Given the description of an element on the screen output the (x, y) to click on. 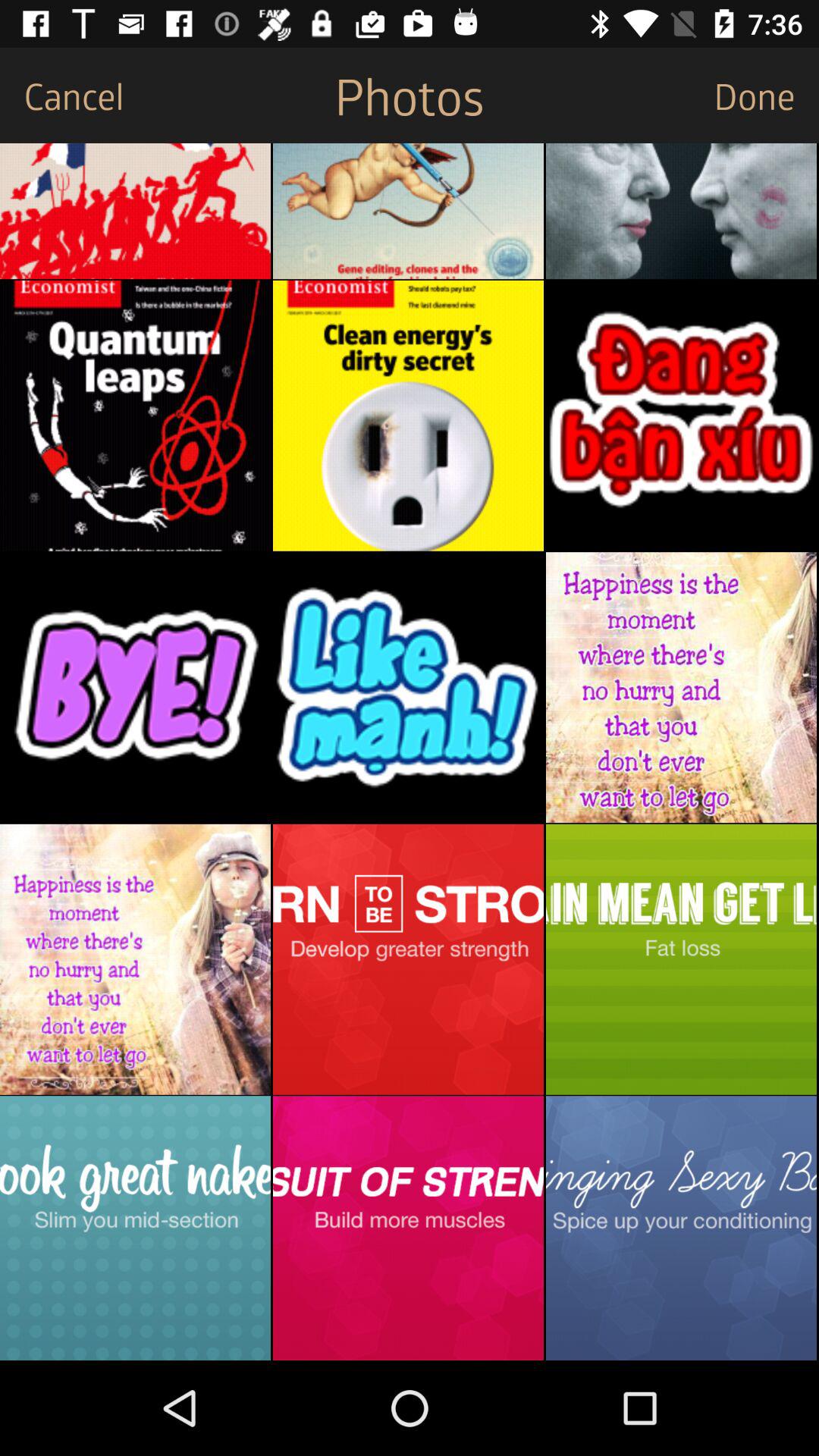
select image (408, 1227)
